Given the description of an element on the screen output the (x, y) to click on. 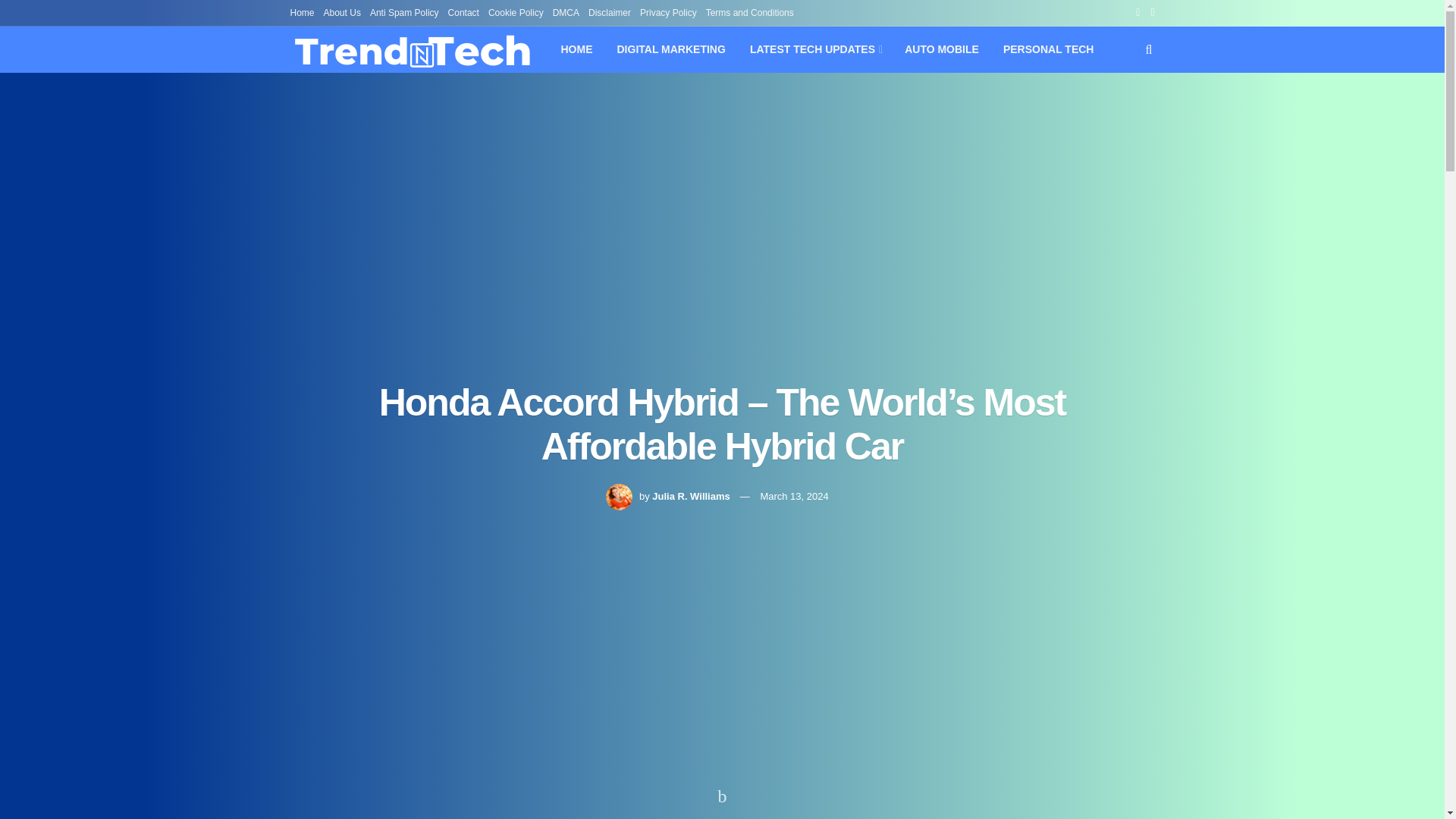
AUTO MOBILE (941, 49)
PERSONAL TECH (1048, 49)
Home (301, 12)
HOME (576, 49)
Contact (463, 12)
Terms and Conditions (749, 12)
Anti Spam Policy (404, 12)
Cookie Policy (515, 12)
Disclaimer (609, 12)
DMCA (566, 12)
